Given the description of an element on the screen output the (x, y) to click on. 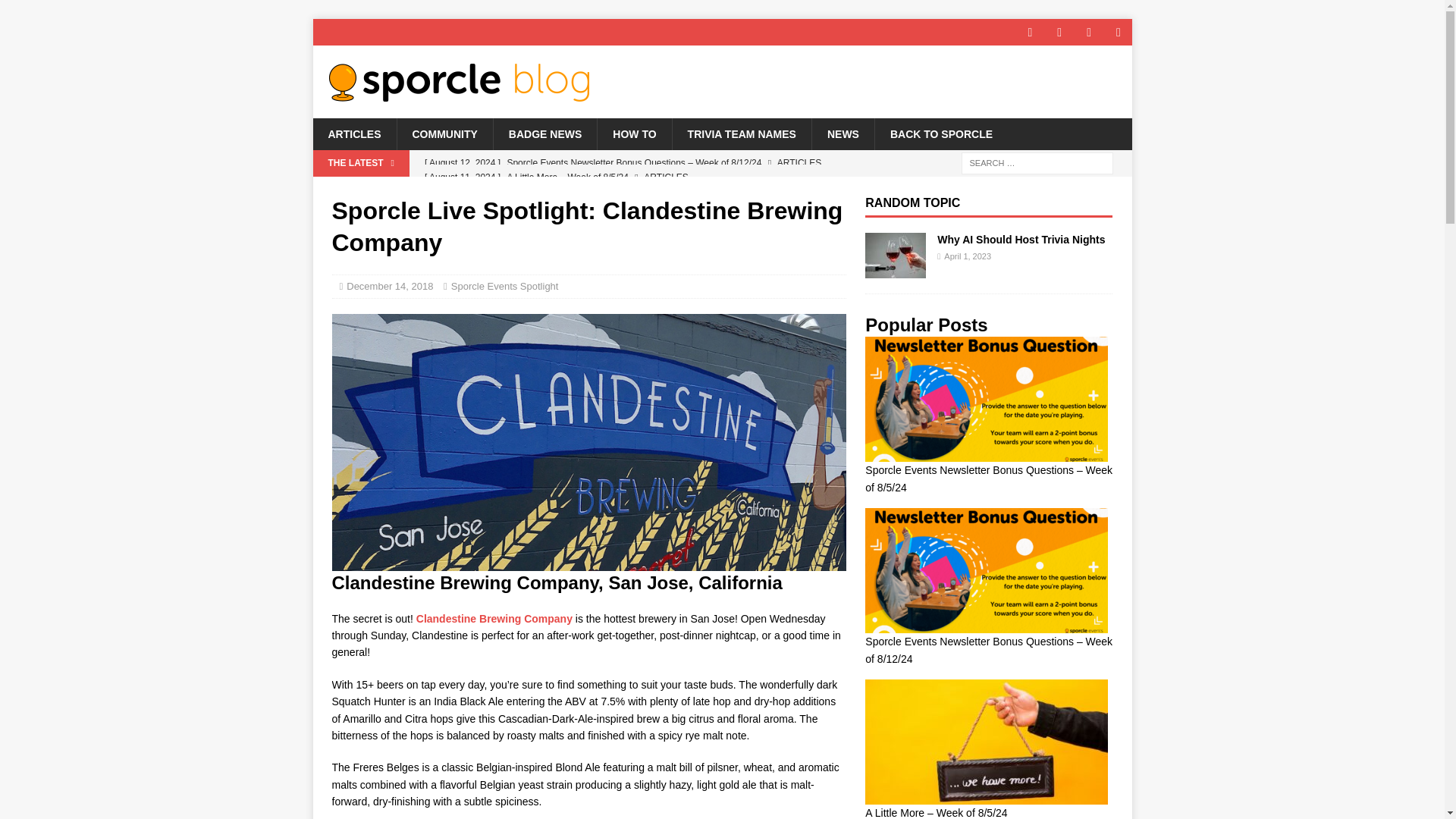
TRIVIA TEAM NAMES (740, 133)
BACK TO SPORCLE (941, 133)
Clandestine Brewing Company (494, 618)
ARTICLES (354, 133)
Sporcle Events Spotlight (505, 285)
NEWS (842, 133)
HOW TO (633, 133)
Search (56, 11)
BADGE NEWS (544, 133)
December 14, 2018 (389, 285)
